Given the description of an element on the screen output the (x, y) to click on. 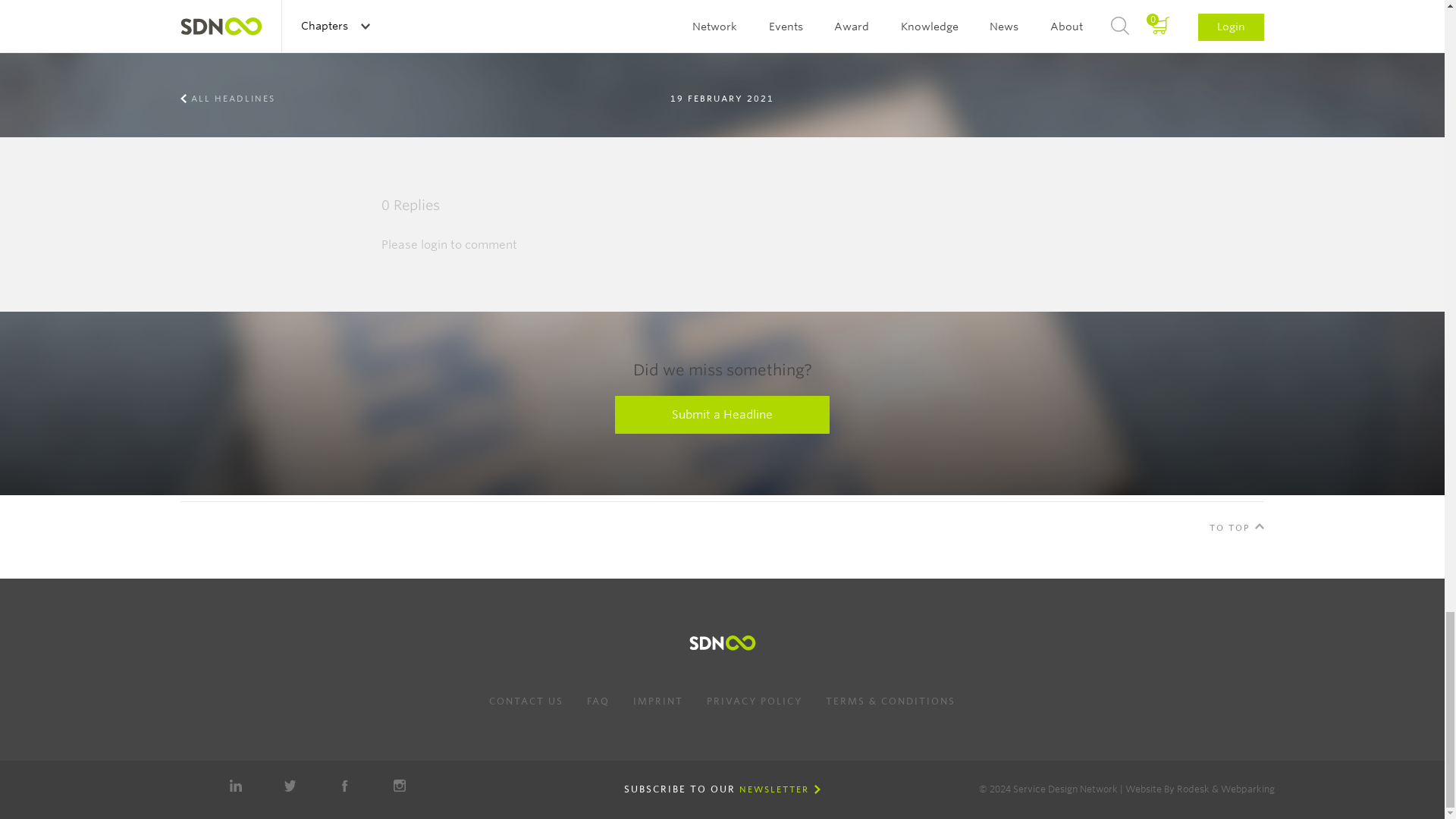
FAQ (598, 701)
Contact us (526, 701)
Imprint (657, 701)
Privacy Policy (754, 701)
